Given the description of an element on the screen output the (x, y) to click on. 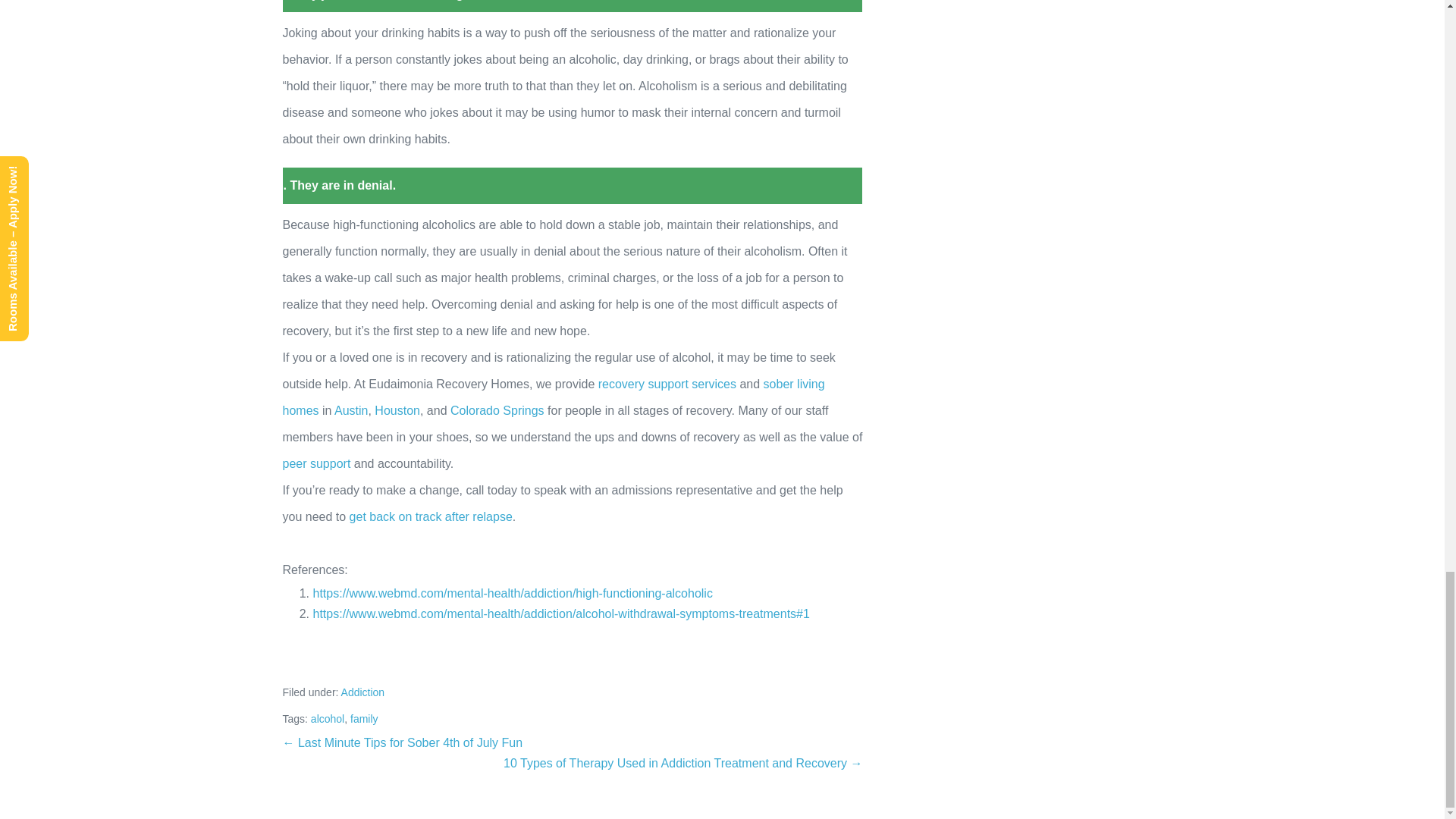
Share on Reddit (380, 657)
Share on Linkedin (460, 657)
Share by email (501, 657)
Share on Twitter (341, 657)
Pin it with Pinterest (421, 657)
Share on Facebook (300, 657)
